Given the description of an element on the screen output the (x, y) to click on. 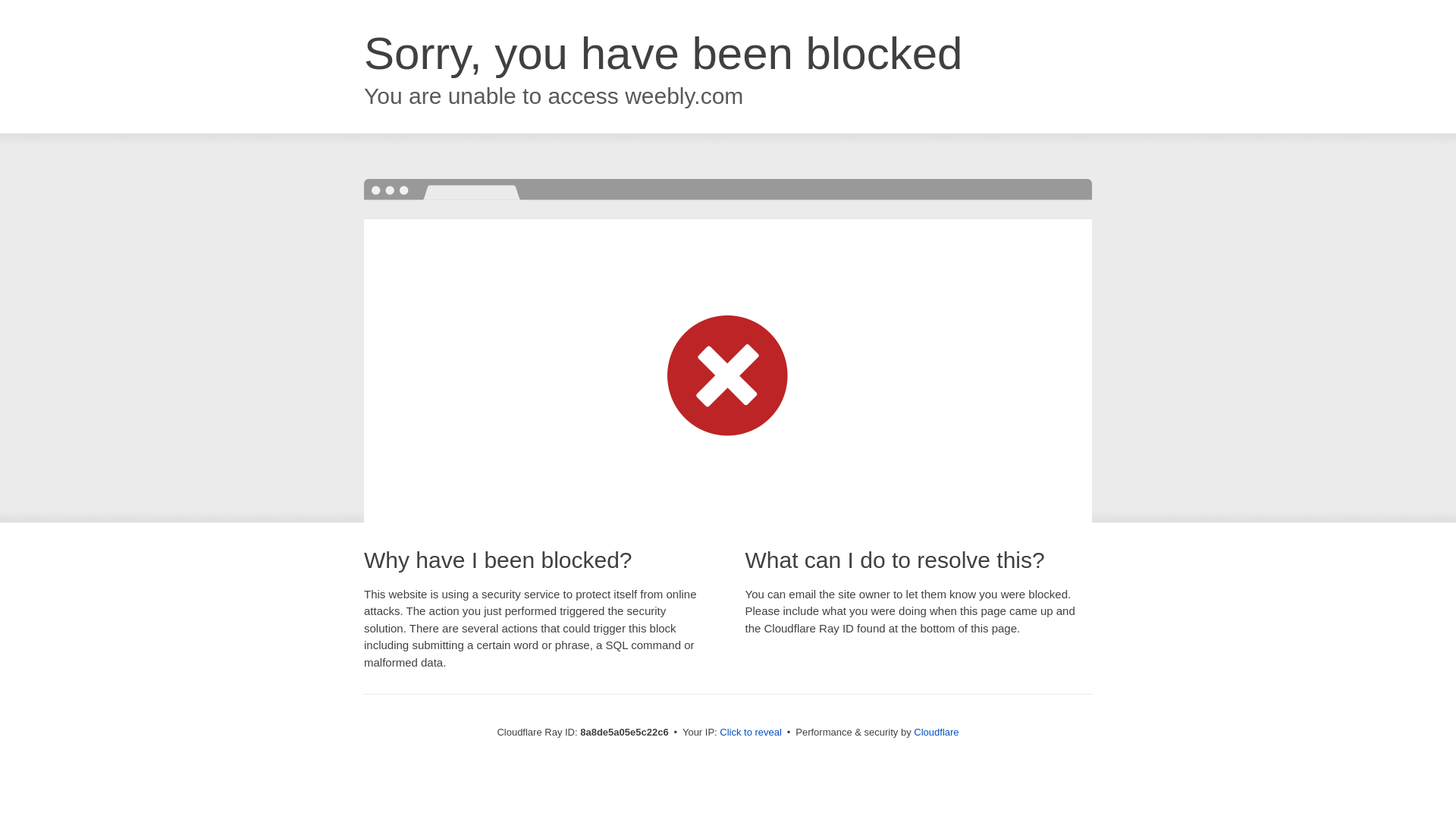
Click to reveal (750, 732)
Cloudflare (936, 731)
